Given the description of an element on the screen output the (x, y) to click on. 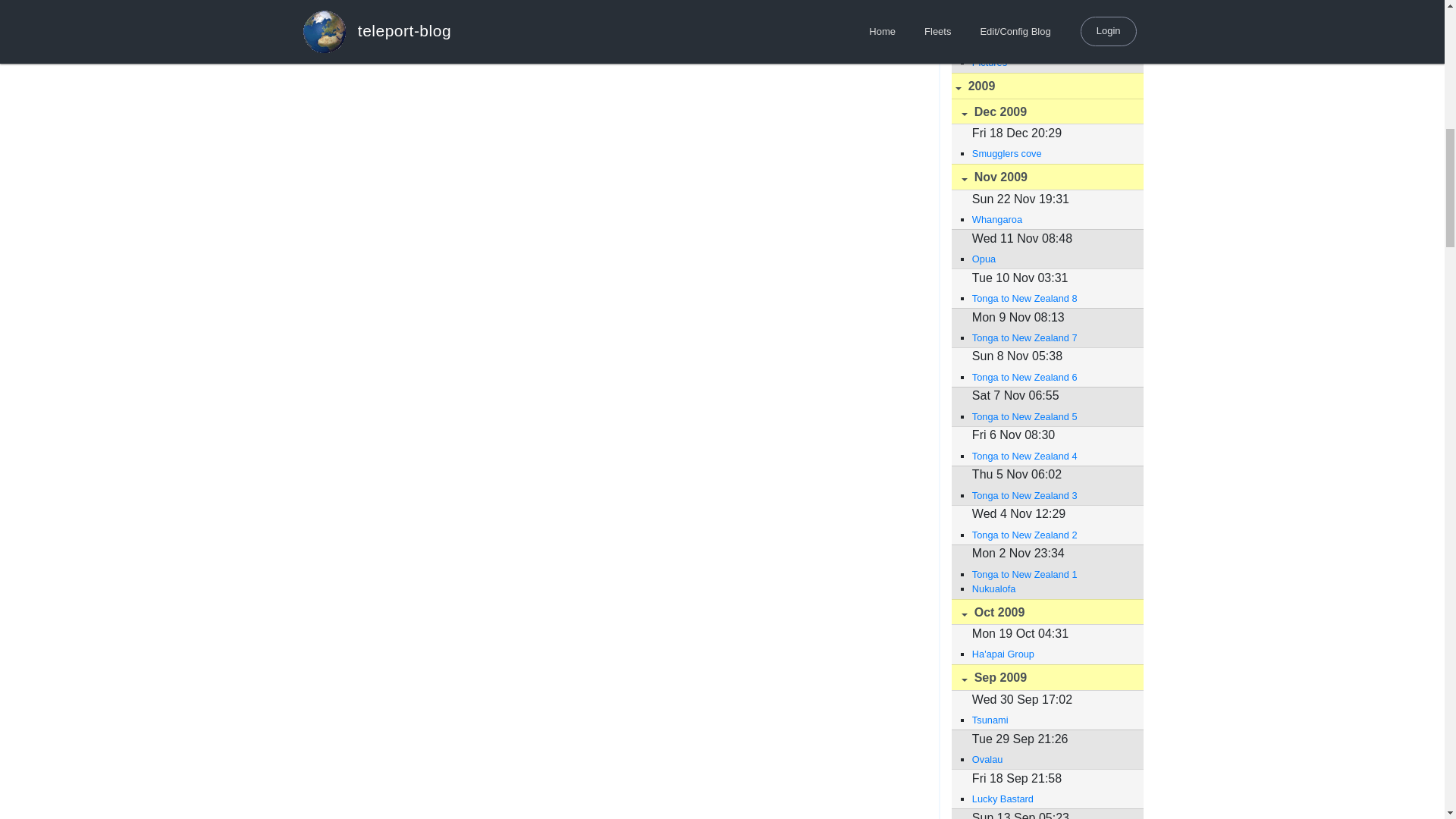
Auckland (1050, 22)
Dec 2009 (1046, 111)
2009 (1046, 85)
Pictures (1050, 62)
